Given the description of an element on the screen output the (x, y) to click on. 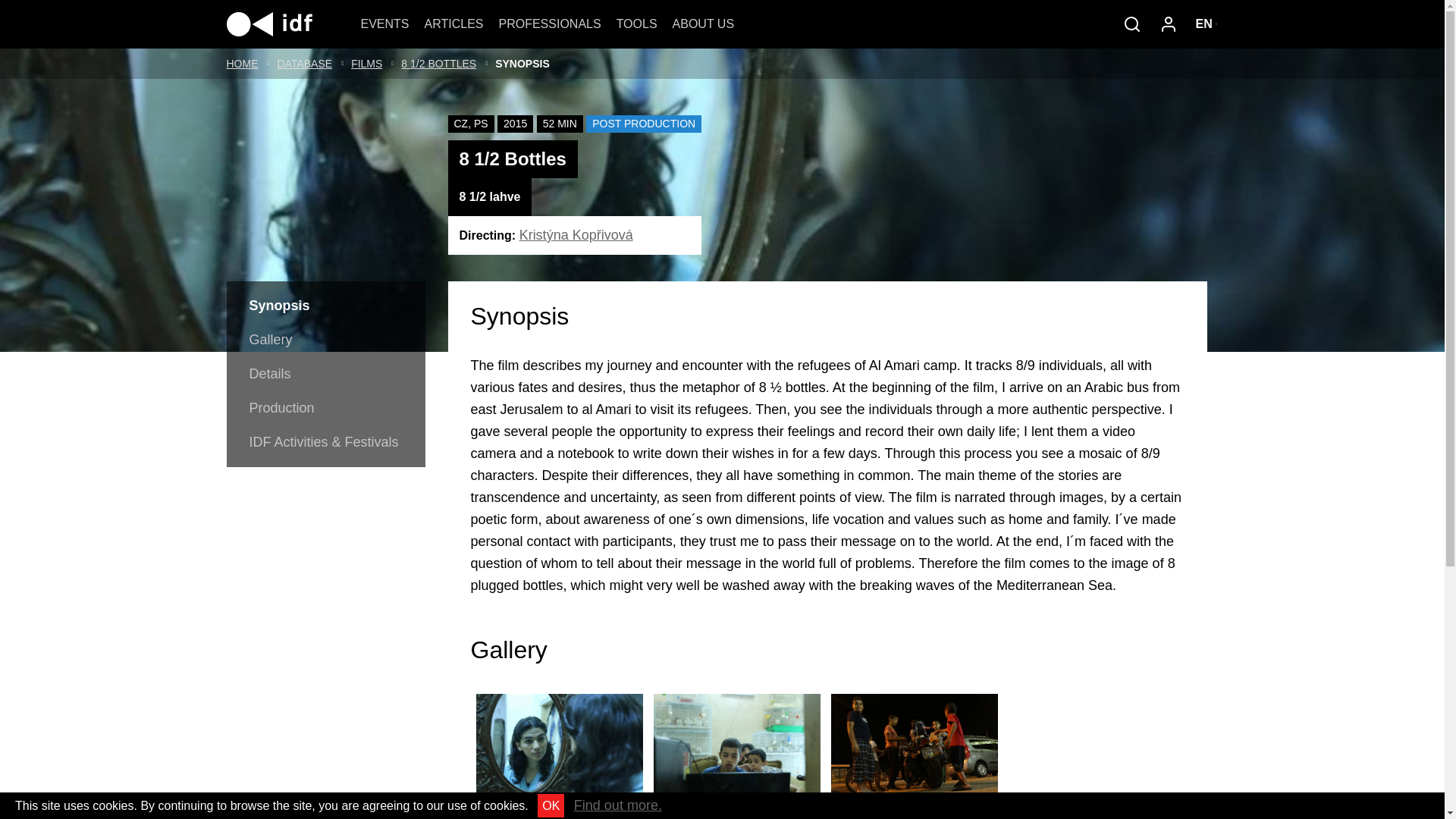
SYNOPSIS (522, 63)
FILMS (365, 63)
TOOLS (636, 24)
PROFESSIONALS (548, 24)
OK (550, 805)
Details (325, 374)
ABOUT US (703, 24)
EVENTS (385, 24)
Synopsis (325, 305)
Production (325, 408)
HOME (241, 63)
DATABASE (305, 63)
ARTICLES (454, 24)
Gallery (325, 339)
